Given the description of an element on the screen output the (x, y) to click on. 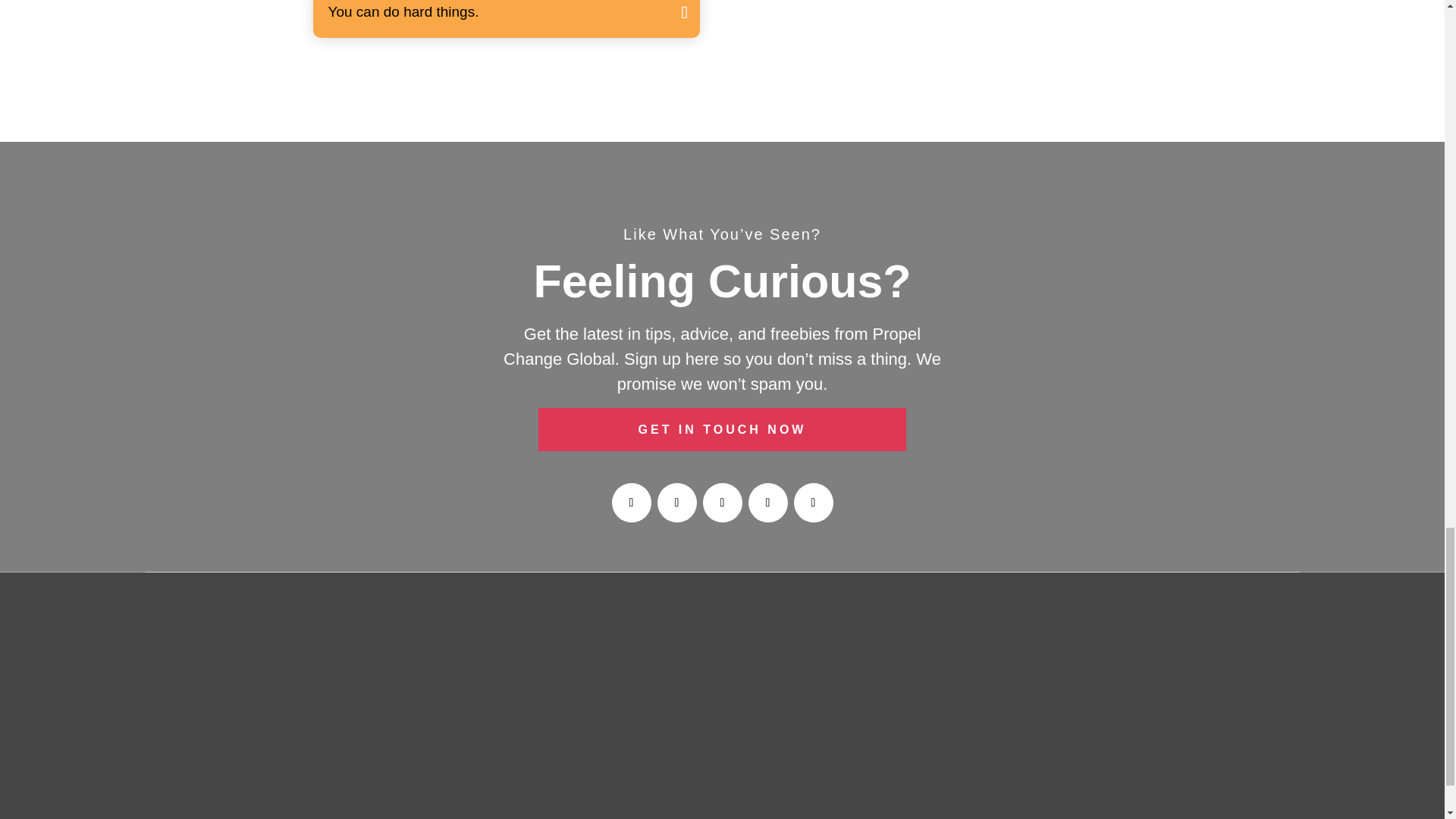
GET IN TOUCH NOW (722, 429)
Follow on Facebook (630, 502)
Follow on Youtube (812, 502)
Follow on Instagram (675, 502)
Follow on LinkedIn (767, 502)
Follow on Twitter (721, 502)
